Given the description of an element on the screen output the (x, y) to click on. 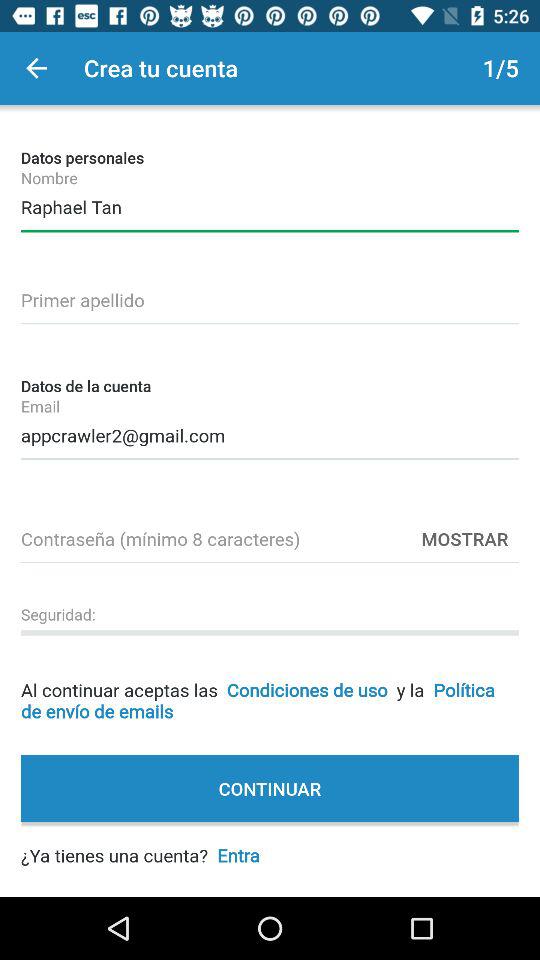
enter text not english (270, 297)
